Given the description of an element on the screen output the (x, y) to click on. 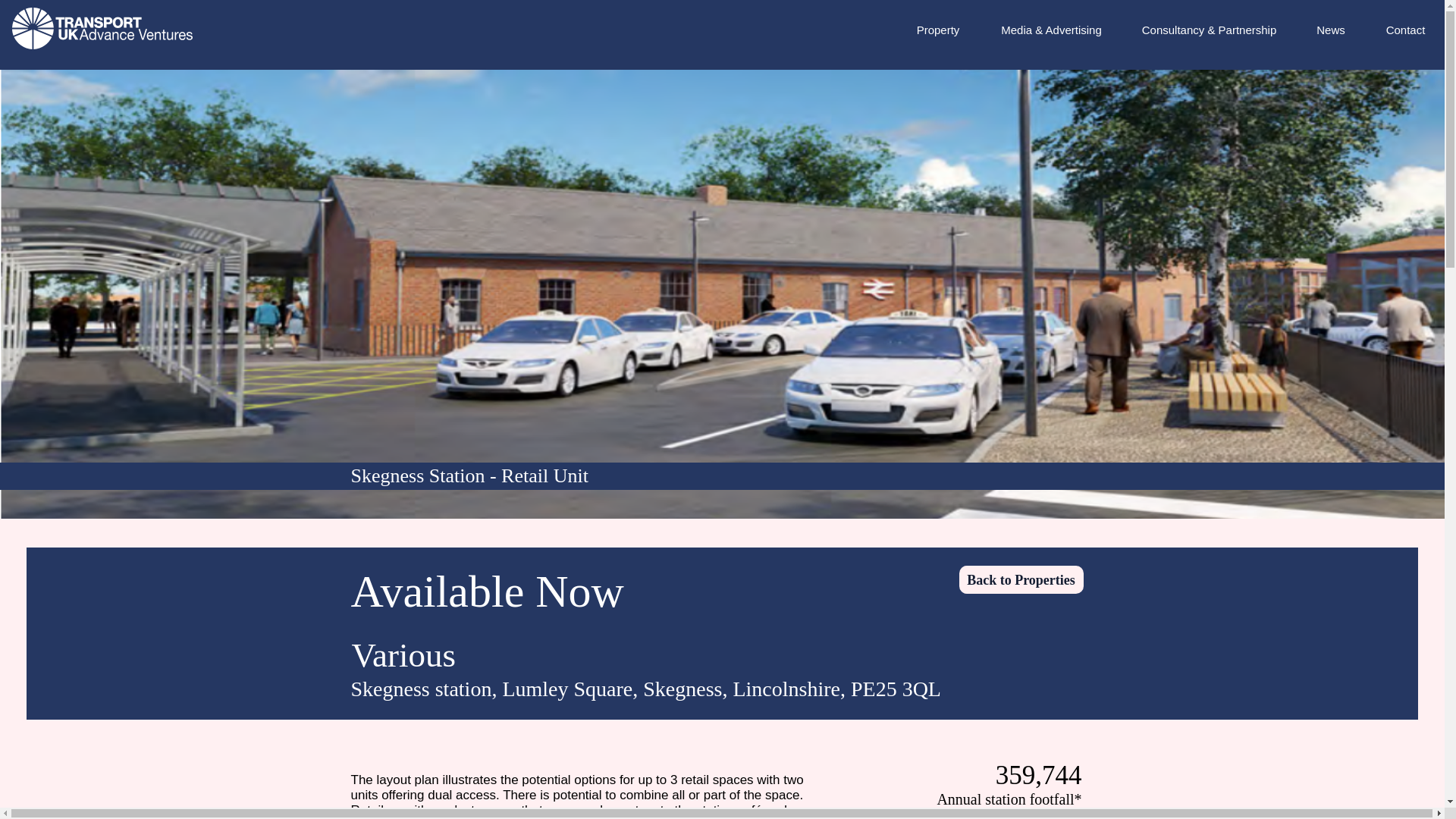
Back to Properties (1020, 579)
Property (937, 30)
News (1330, 30)
